Given the description of an element on the screen output the (x, y) to click on. 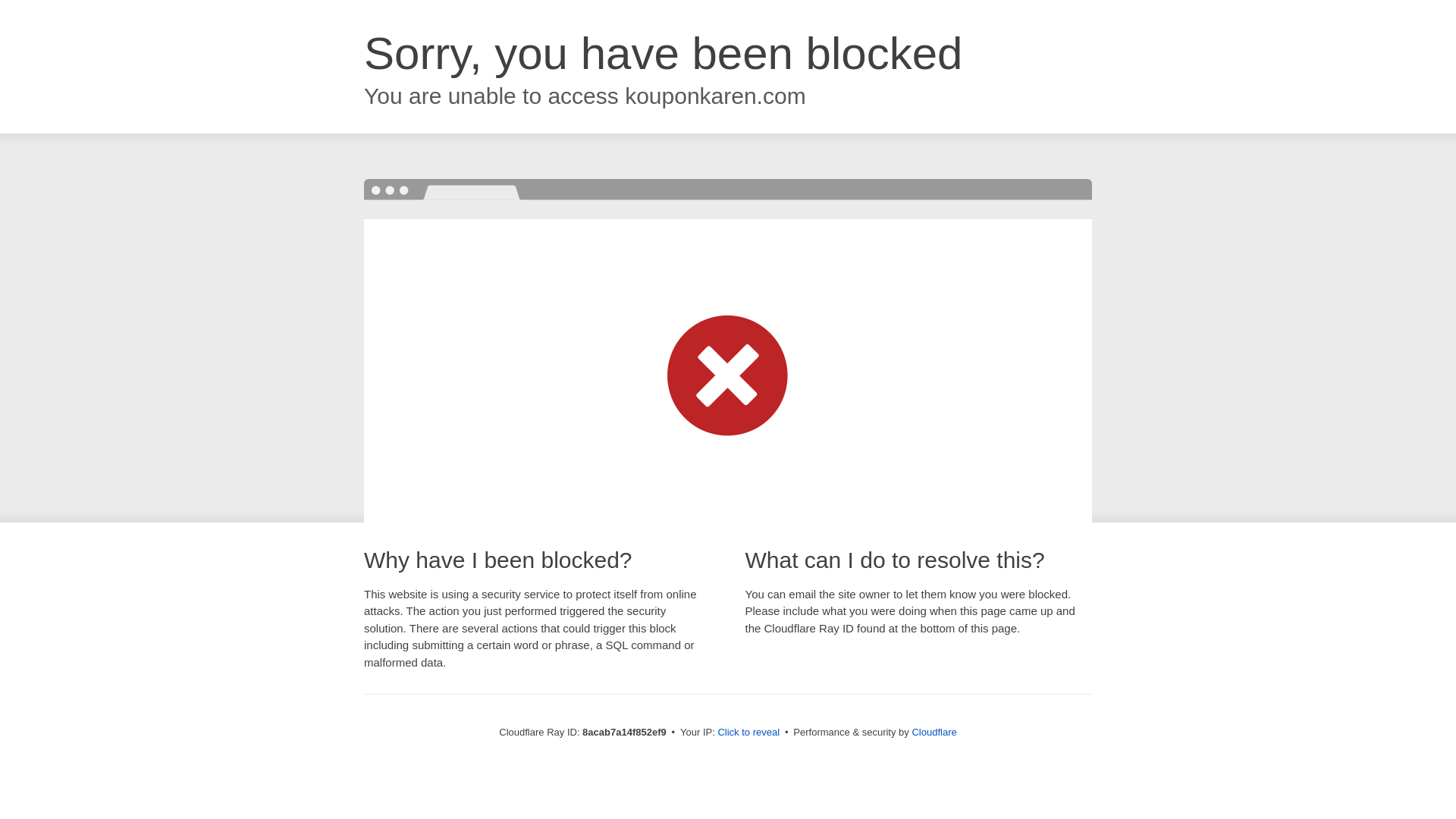
Cloudflare (933, 731)
Click to reveal (747, 732)
